Given the description of an element on the screen output the (x, y) to click on. 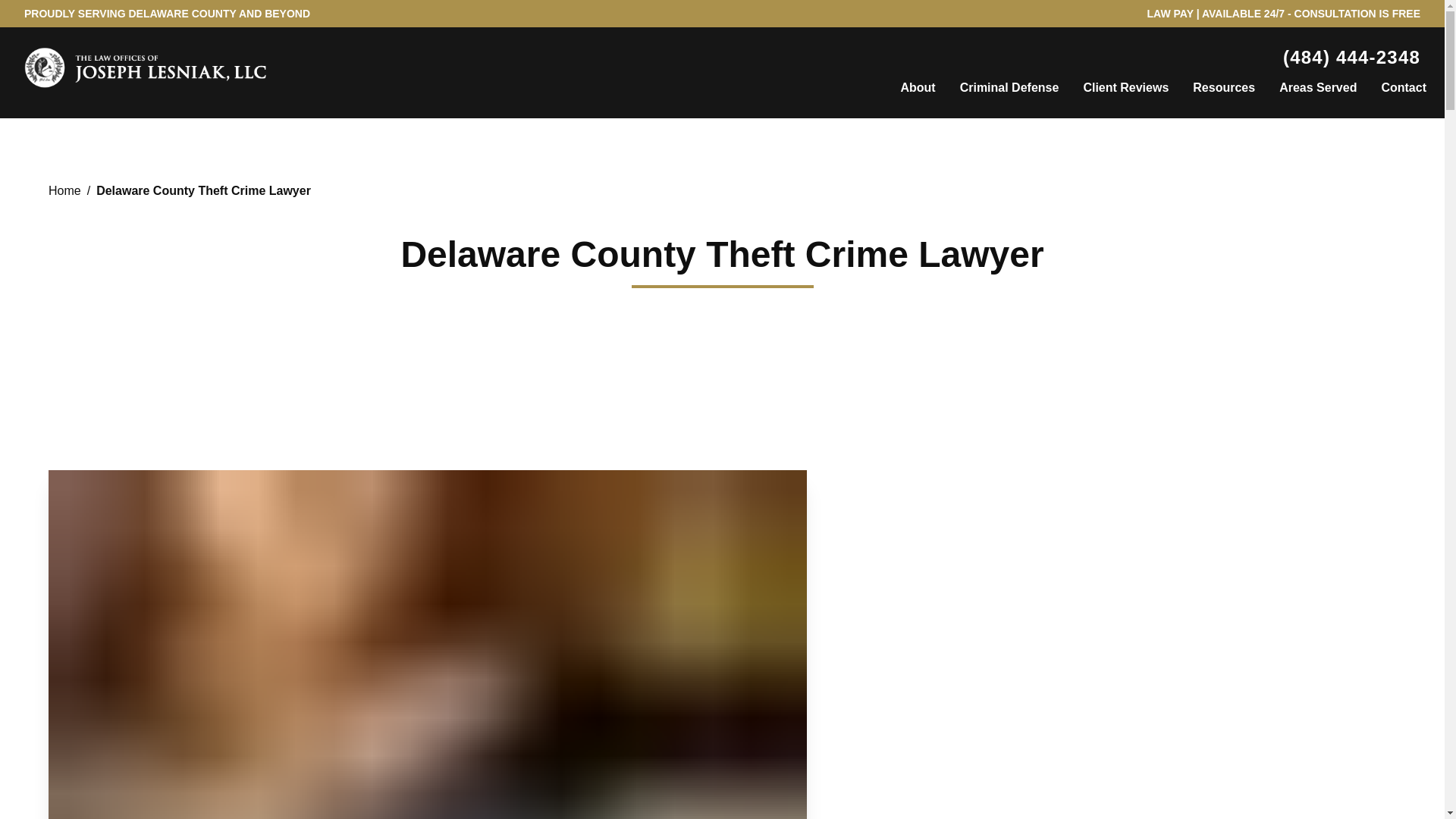
LAW PAY (1170, 13)
Criminal Defense (1009, 87)
About (917, 87)
